Given the description of an element on the screen output the (x, y) to click on. 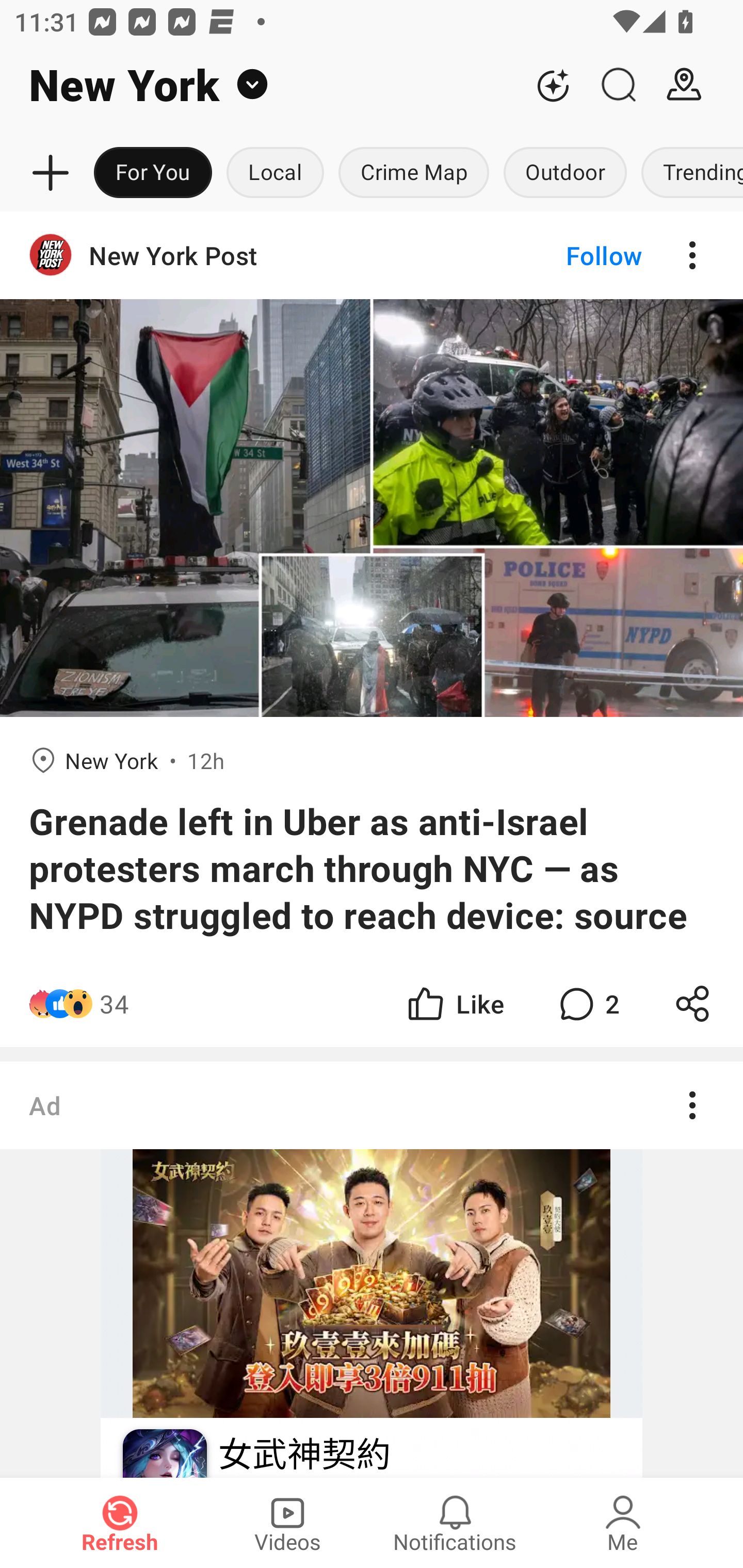
New York (260, 84)
For You (152, 172)
Local (275, 172)
Crime Map (413, 172)
Outdoor (564, 172)
Trending (688, 172)
New York Post Follow (371, 255)
Follow (569, 255)
34 (114, 1003)
Like (454, 1003)
2 (587, 1003)
女武神契約 (303, 1454)
Videos (287, 1522)
Notifications (455, 1522)
Me (622, 1522)
